Given the description of an element on the screen output the (x, y) to click on. 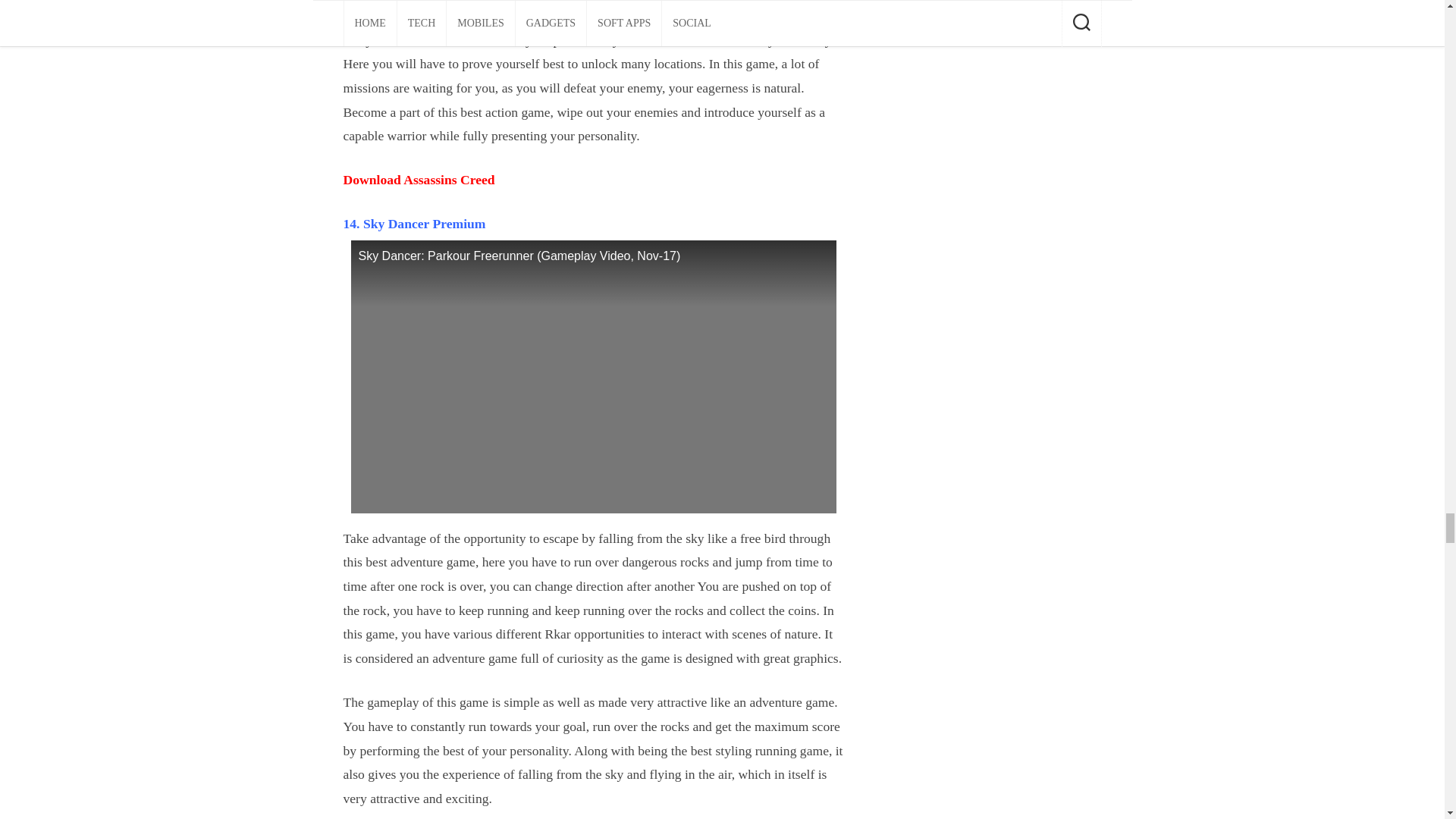
Download Assassins Creed (418, 179)
